Given the description of an element on the screen output the (x, y) to click on. 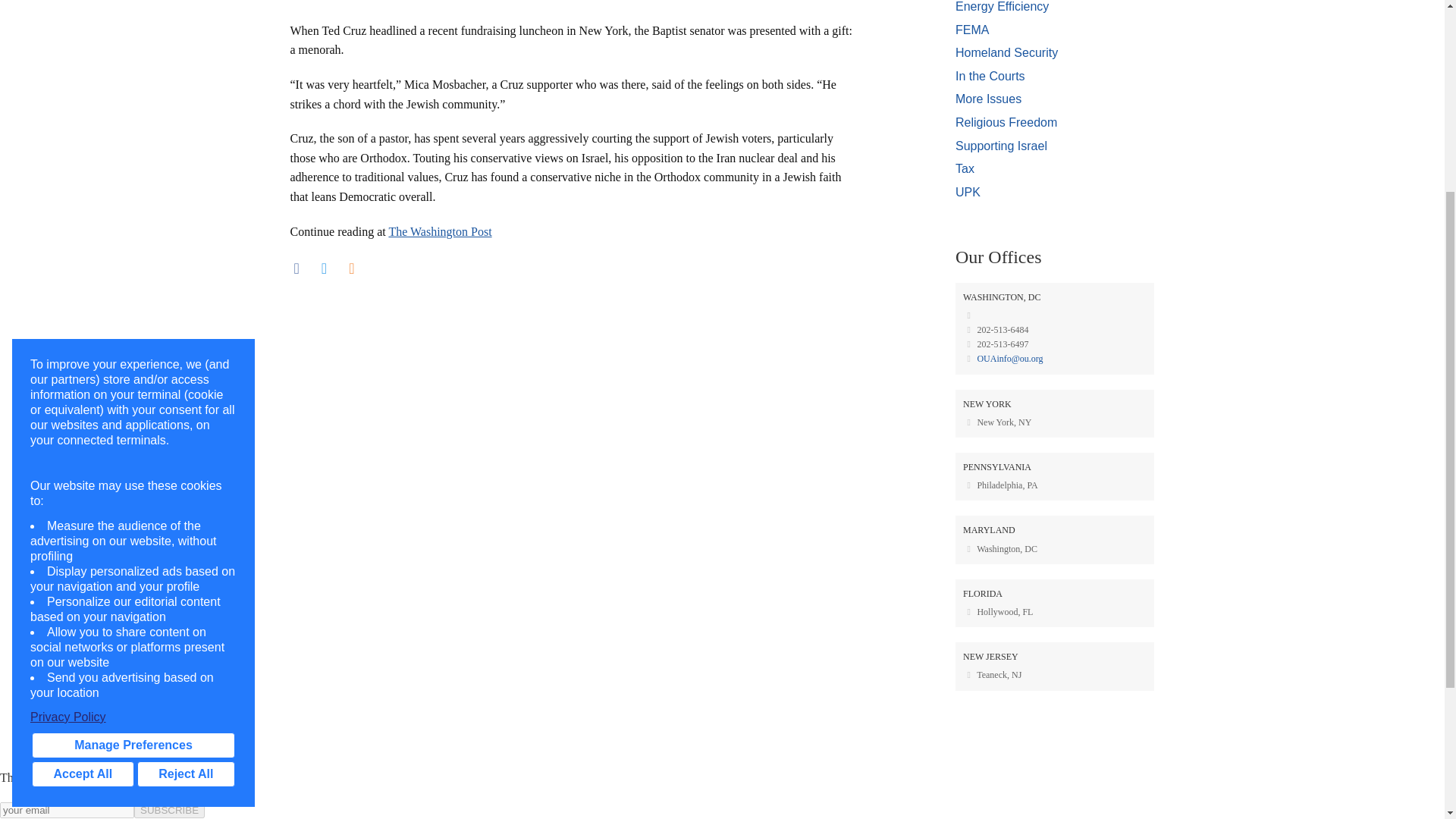
Privacy Policy (132, 417)
Accept All (82, 474)
Reject All (185, 474)
The Washington Post (440, 231)
Manage Preferences (133, 445)
